Given the description of an element on the screen output the (x, y) to click on. 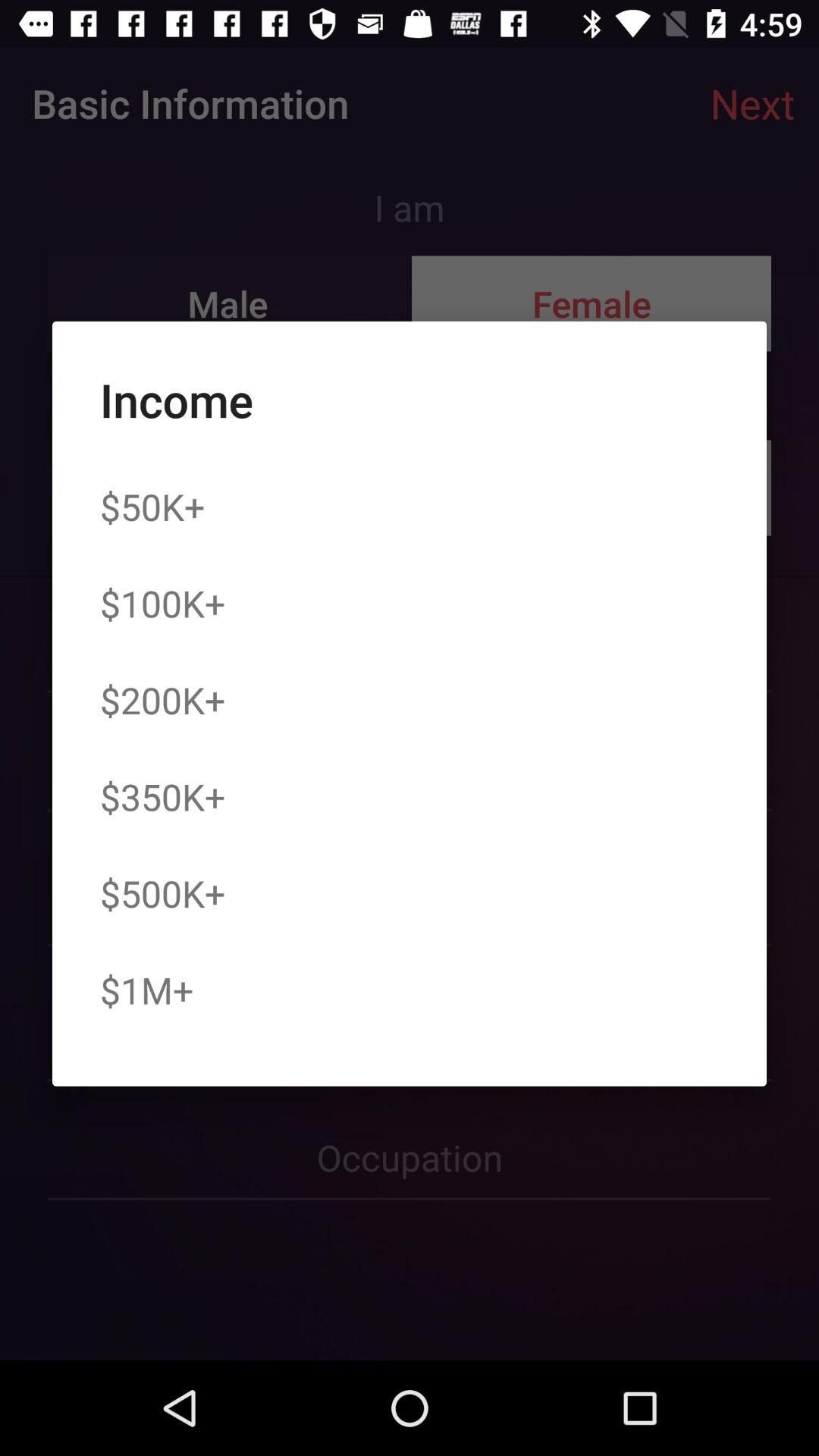
click $350k+ item (162, 796)
